Given the description of an element on the screen output the (x, y) to click on. 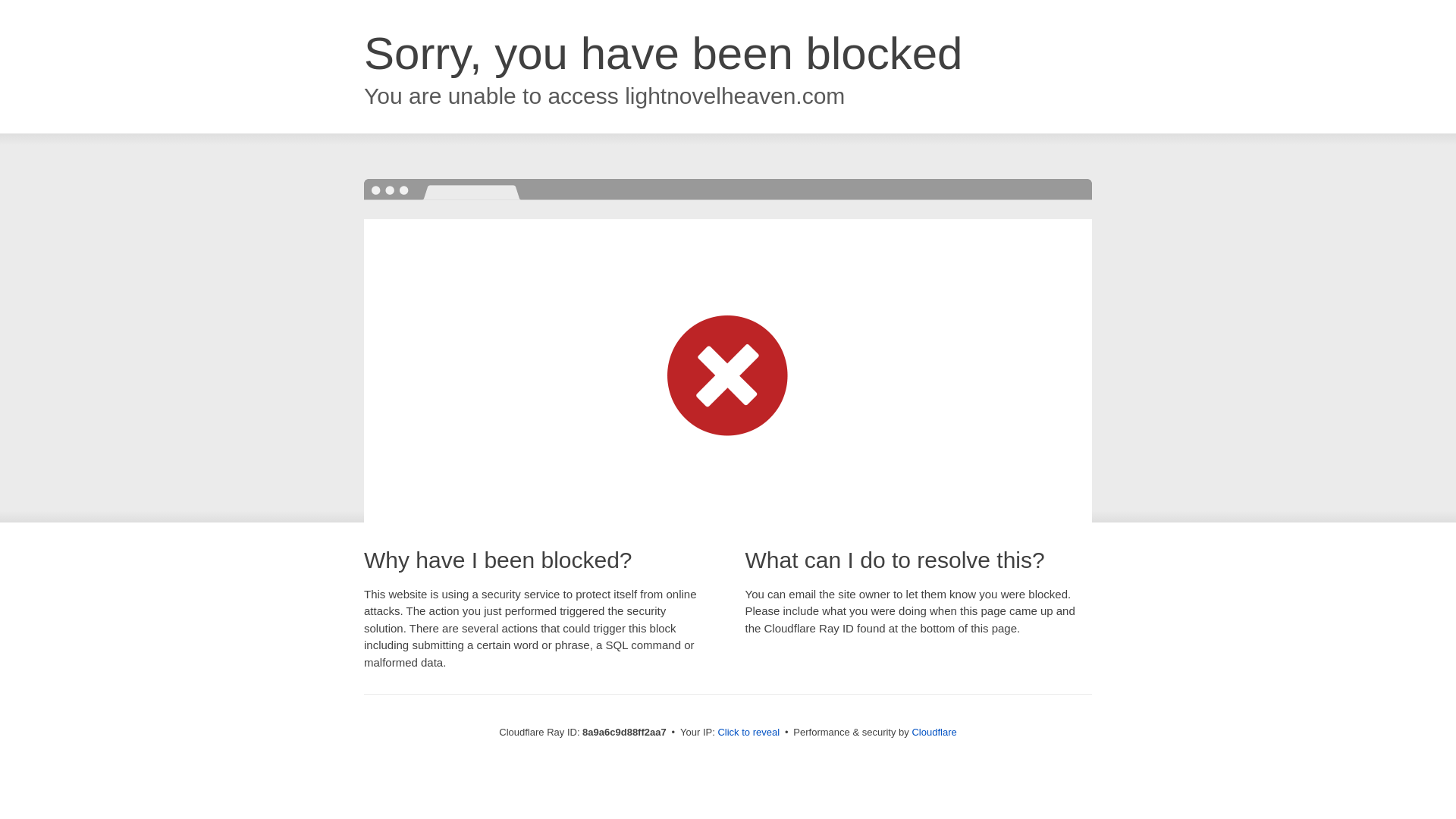
Cloudflare (933, 731)
Click to reveal (747, 732)
